Given the description of an element on the screen output the (x, y) to click on. 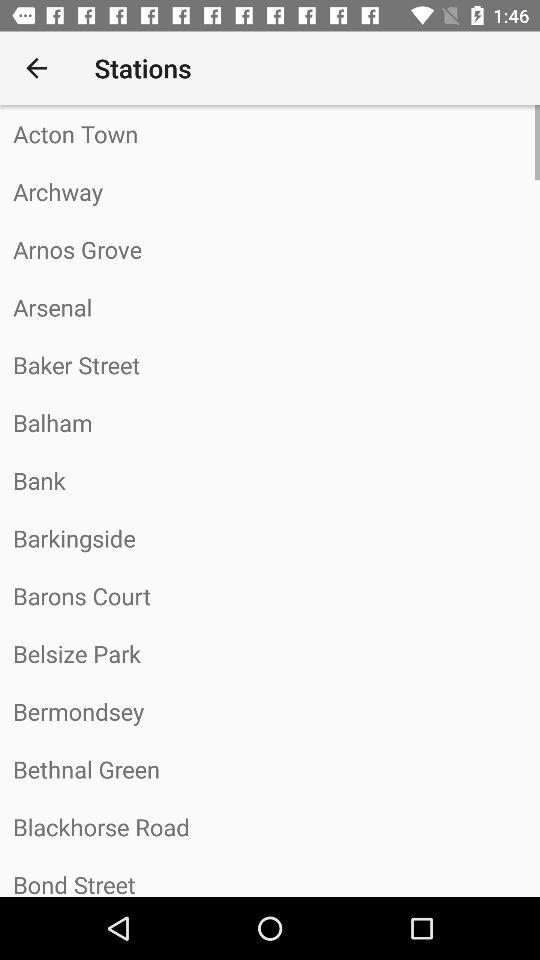
scroll until blackhorse road item (270, 827)
